Given the description of an element on the screen output the (x, y) to click on. 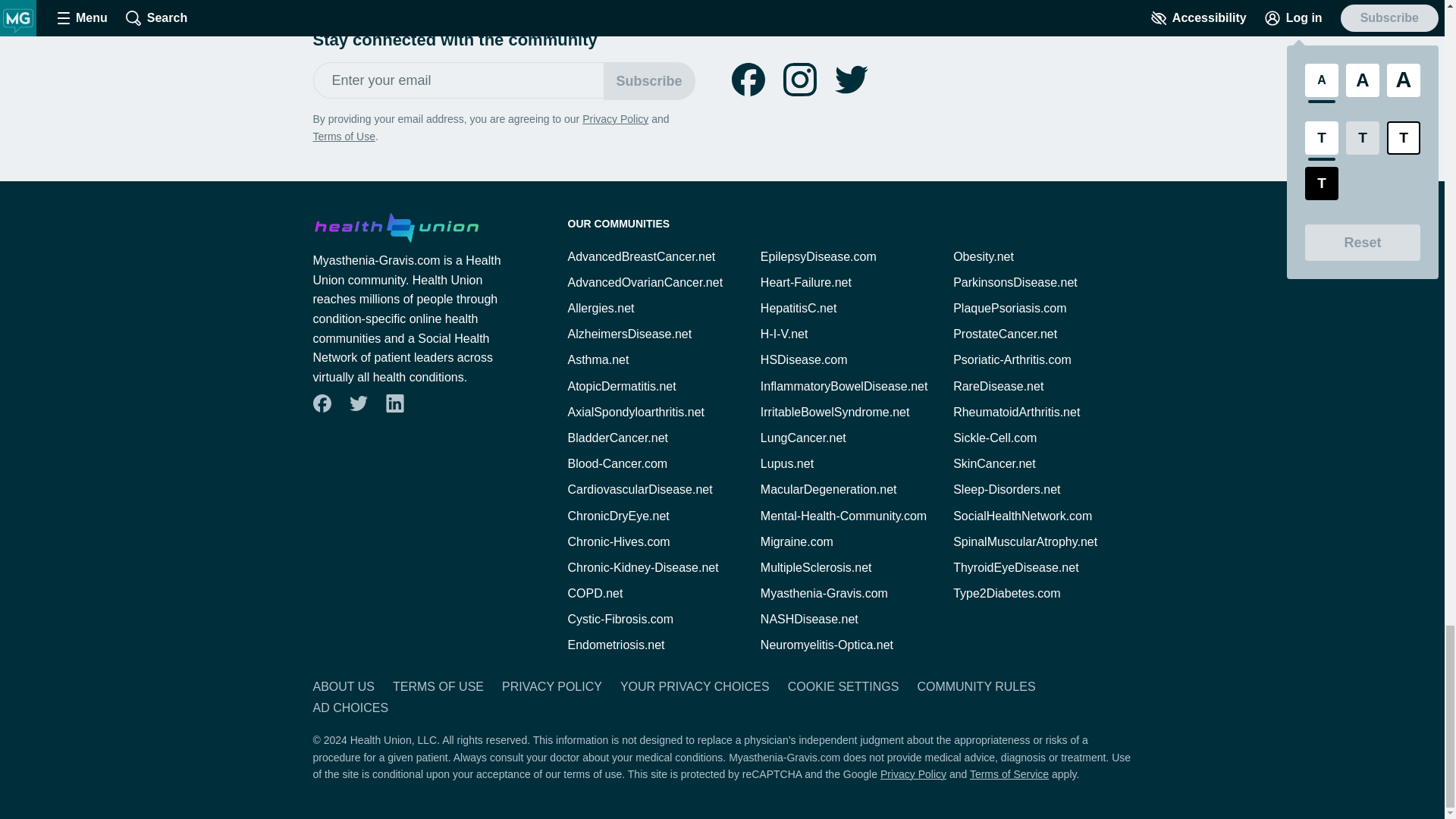
Follow us on facebook (321, 402)
Follow us on facebook (747, 79)
Follow us on twitter (850, 79)
Follow us on instagram (799, 79)
